Given the description of an element on the screen output the (x, y) to click on. 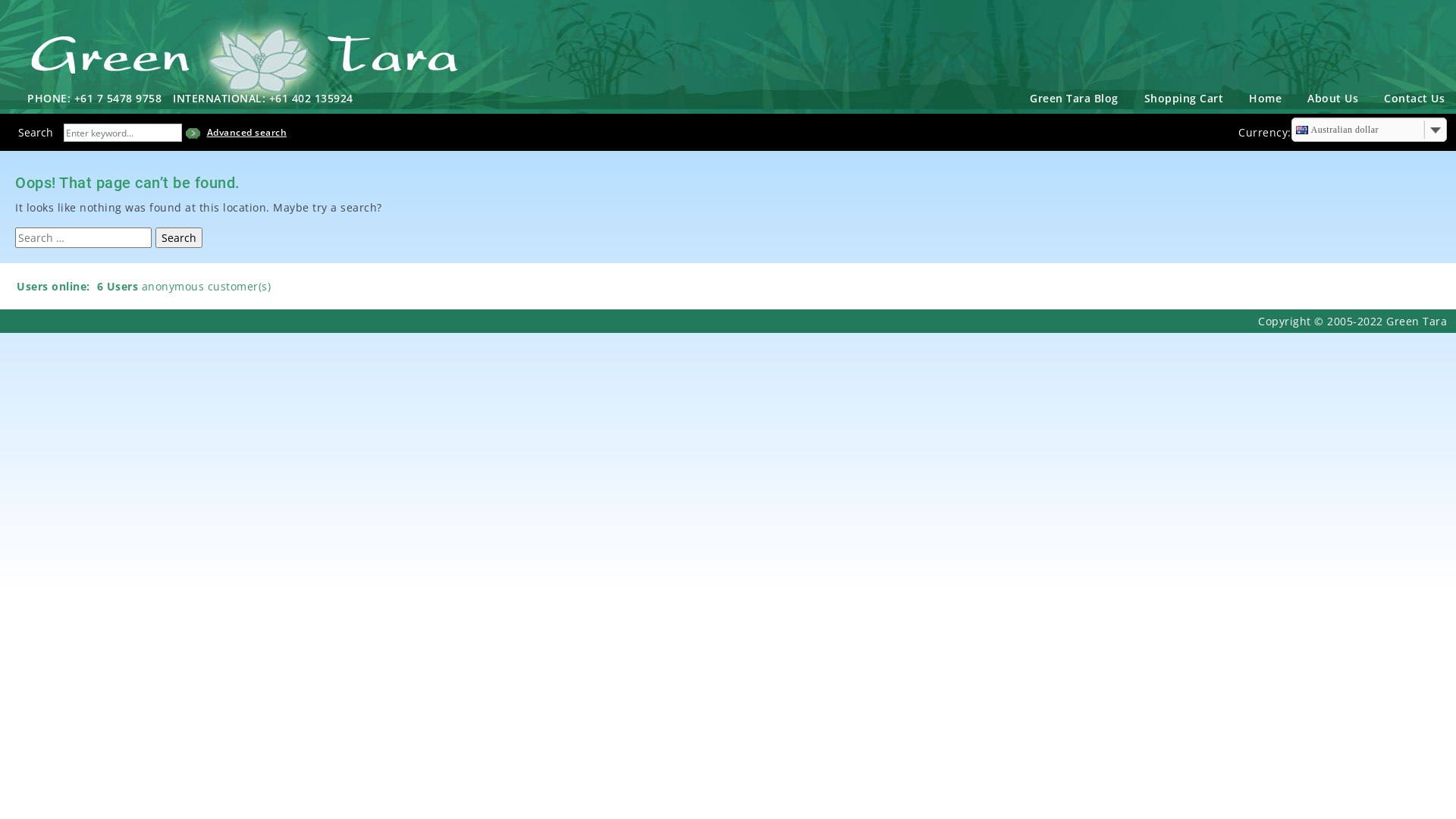
Search Element type: text (177, 237)
Contact Us Element type: text (1413, 98)
INTERNATIONAL: +61 402 135924 Element type: text (268, 98)
Advanced search Element type: text (246, 134)
About Us Element type: text (1332, 98)
Shopping Cart Element type: text (1184, 98)
Green Tara Blog Element type: text (1073, 98)
PHONE: +61 7 5478 9758 Element type: text (99, 98)
Search Element type: text (31, 131)
Home Element type: text (1264, 98)
